Given the description of an element on the screen output the (x, y) to click on. 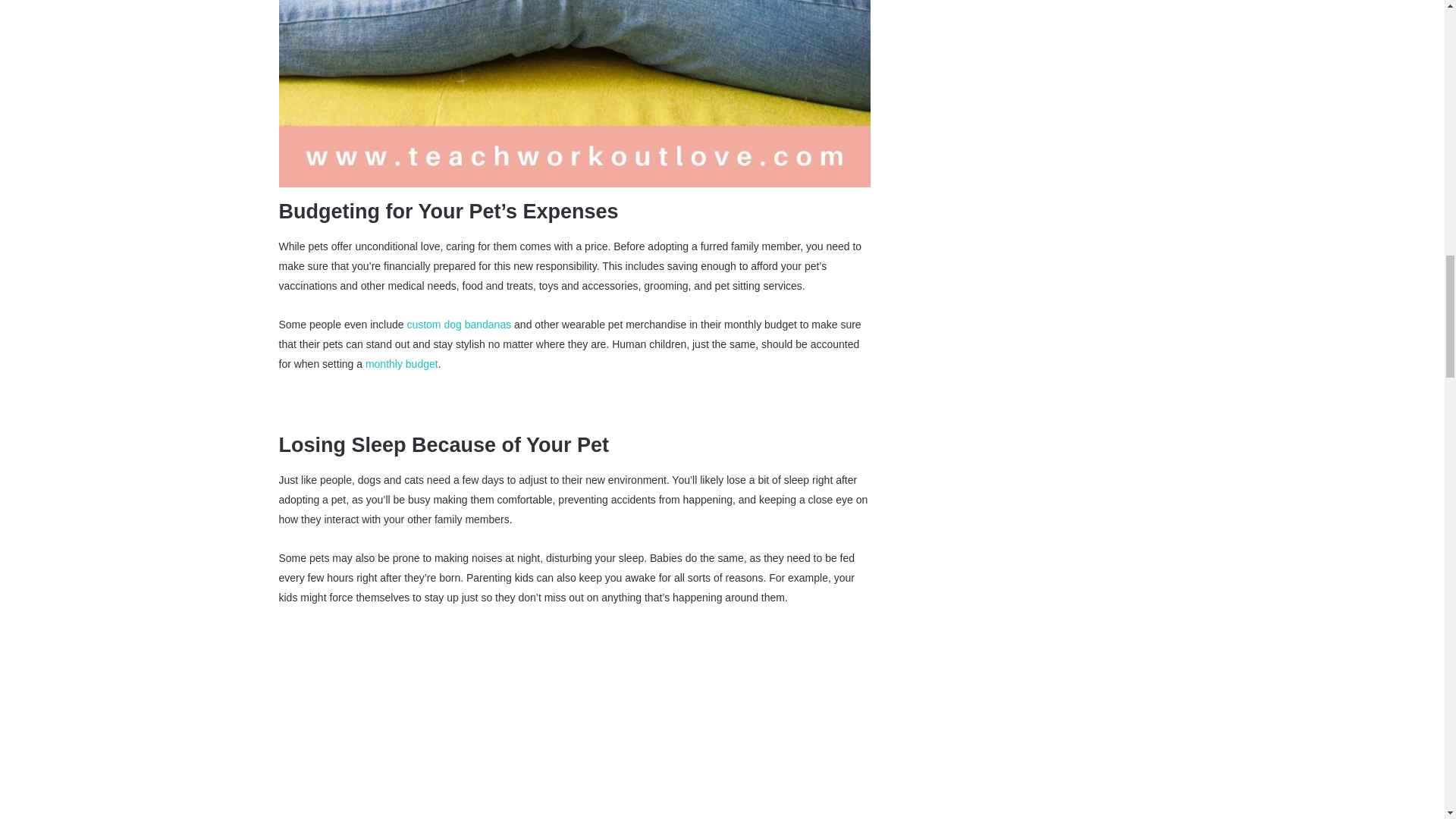
monthly budget (401, 363)
custom dog bandanas (458, 324)
